Given the description of an element on the screen output the (x, y) to click on. 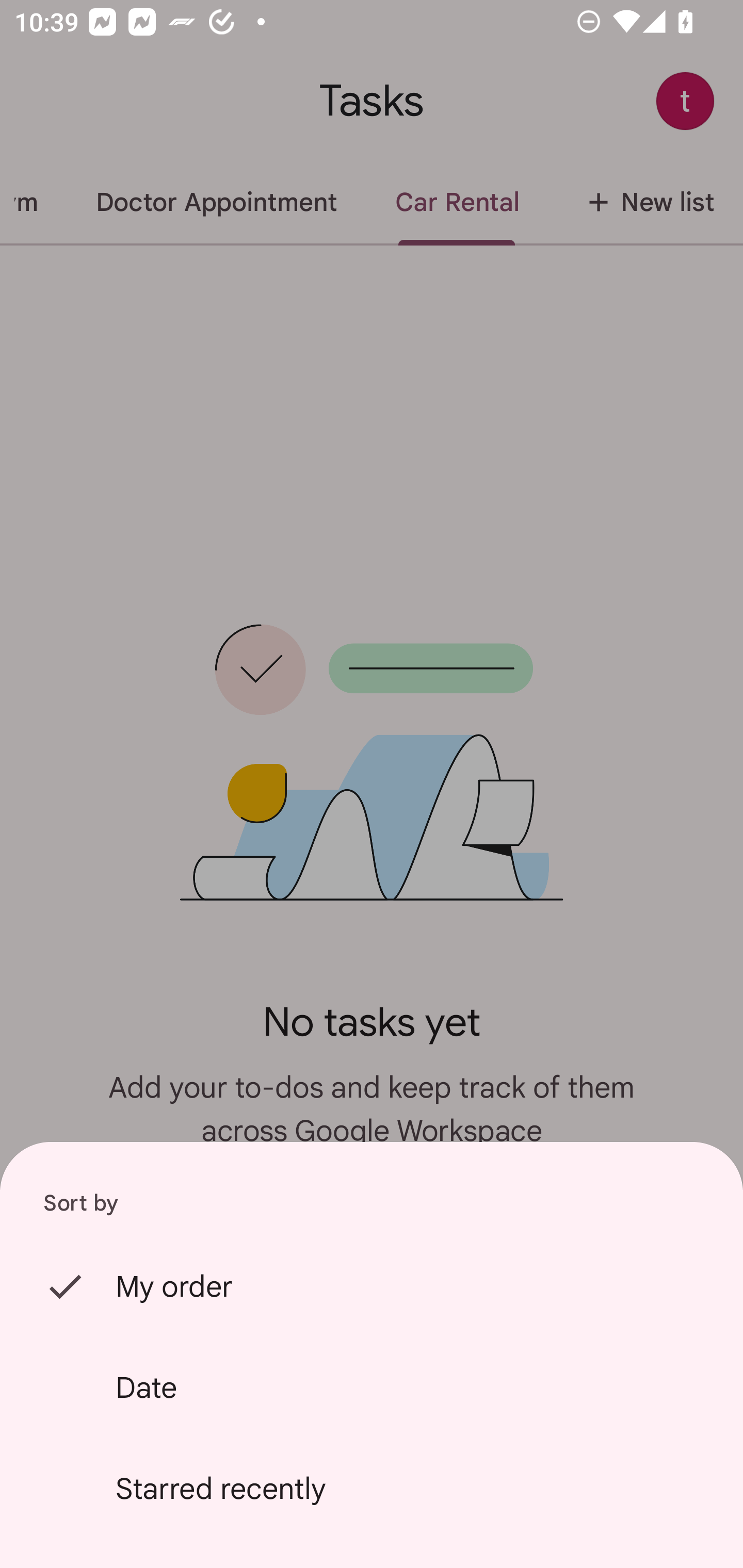
My order (371, 1286)
Date (371, 1387)
Starred recently (371, 1488)
